Given the description of an element on the screen output the (x, y) to click on. 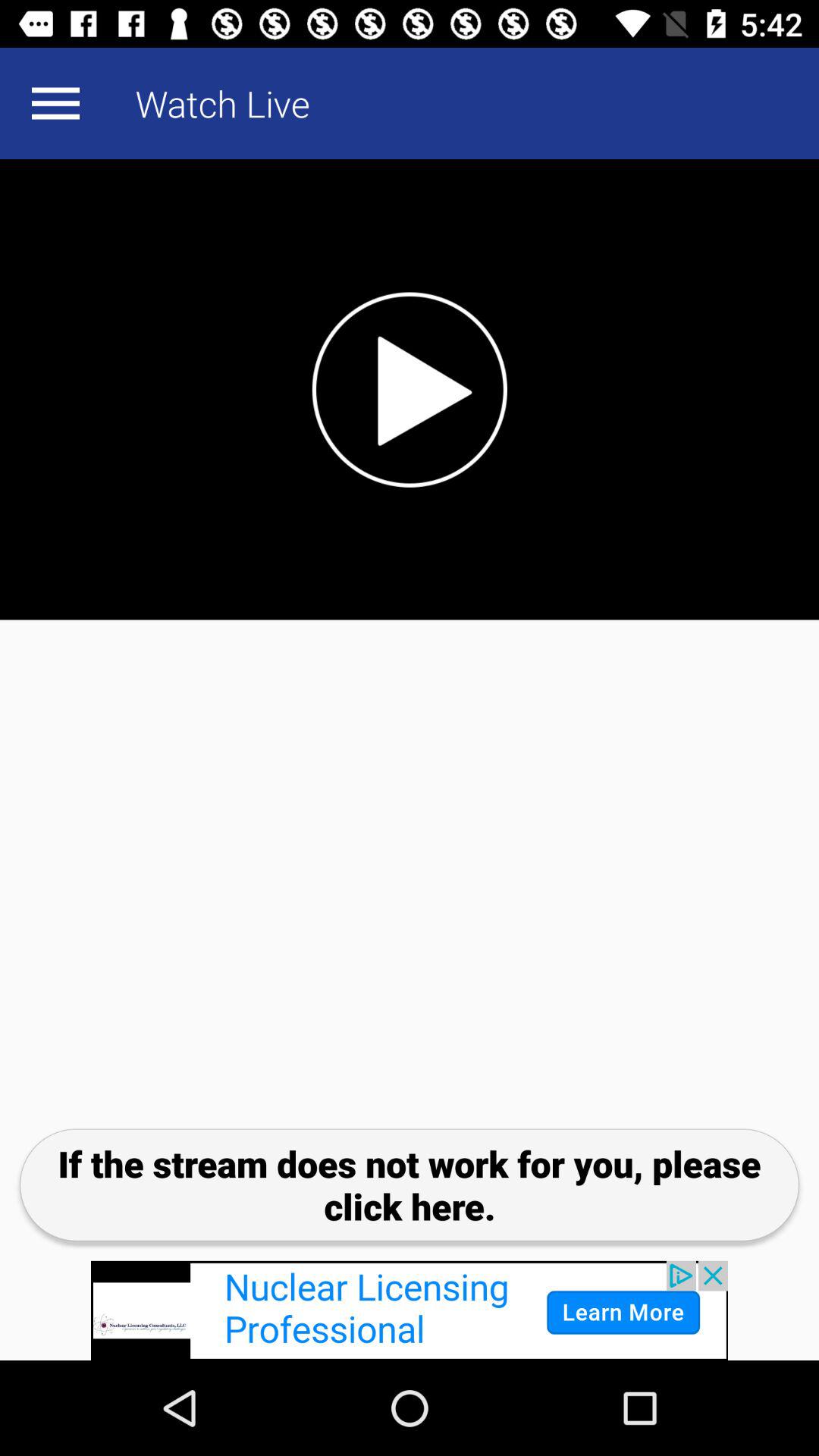
enter menu (55, 103)
